Given the description of an element on the screen output the (x, y) to click on. 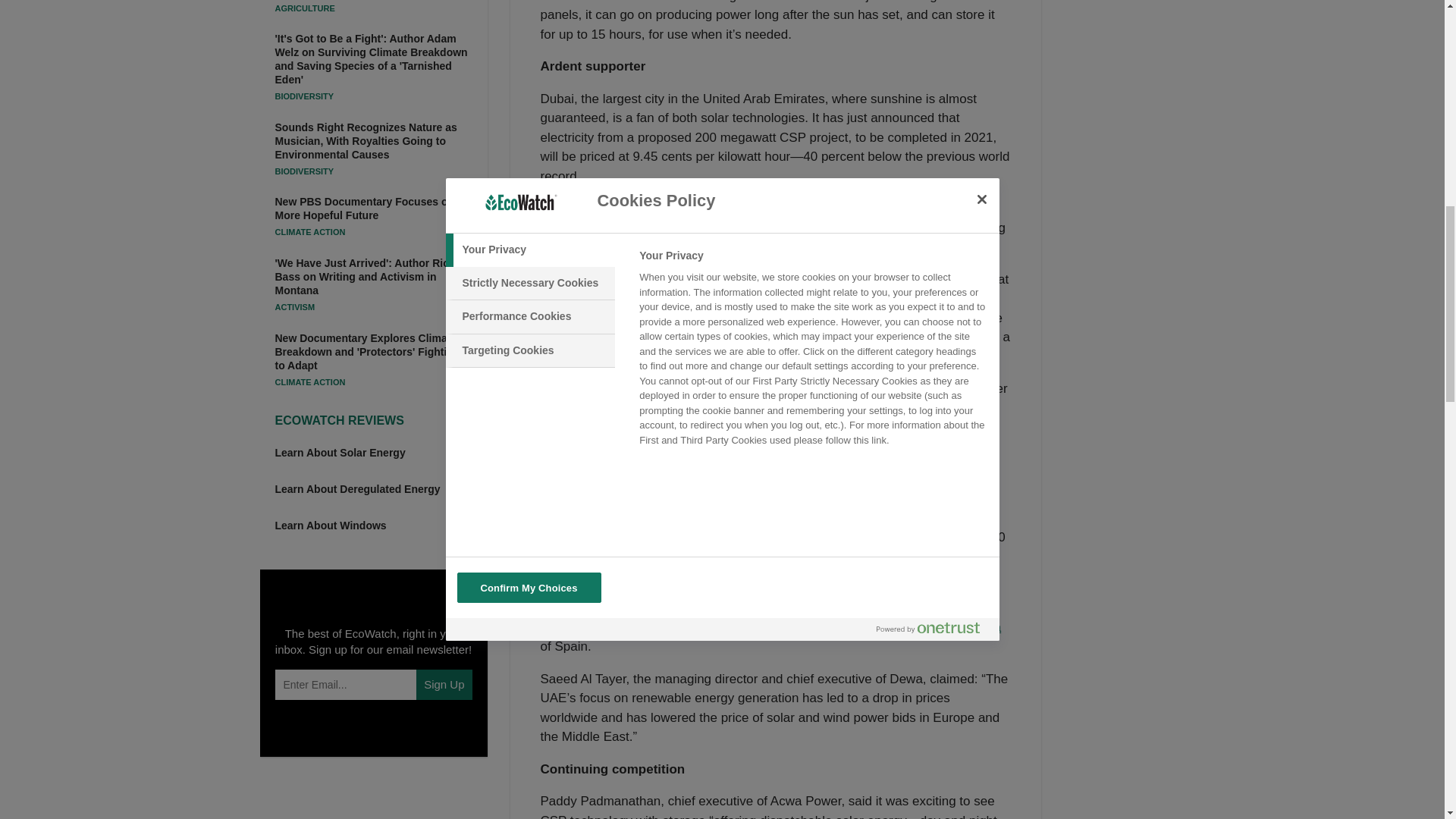
Sign Up (443, 684)
